Given the description of an element on the screen output the (x, y) to click on. 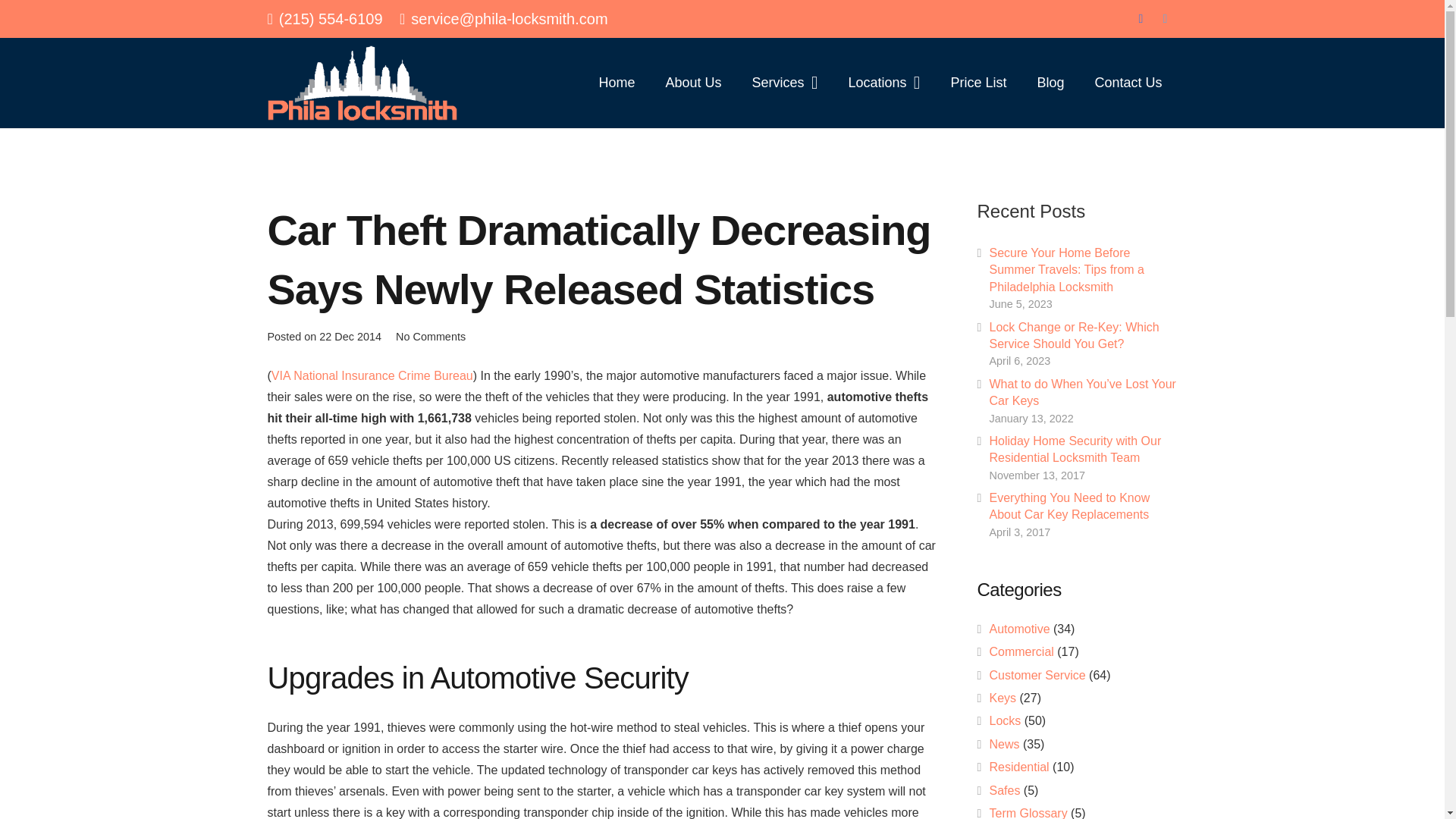
No Comments (430, 336)
Contact Us (1127, 82)
Locations (883, 82)
Services (784, 82)
Facebook (1140, 18)
Twitter (1164, 18)
No Comments (430, 336)
nicb vehicle theft statistics (371, 375)
VIA National Insurance Crime Bureau (371, 375)
About Us (692, 82)
